Given the description of an element on the screen output the (x, y) to click on. 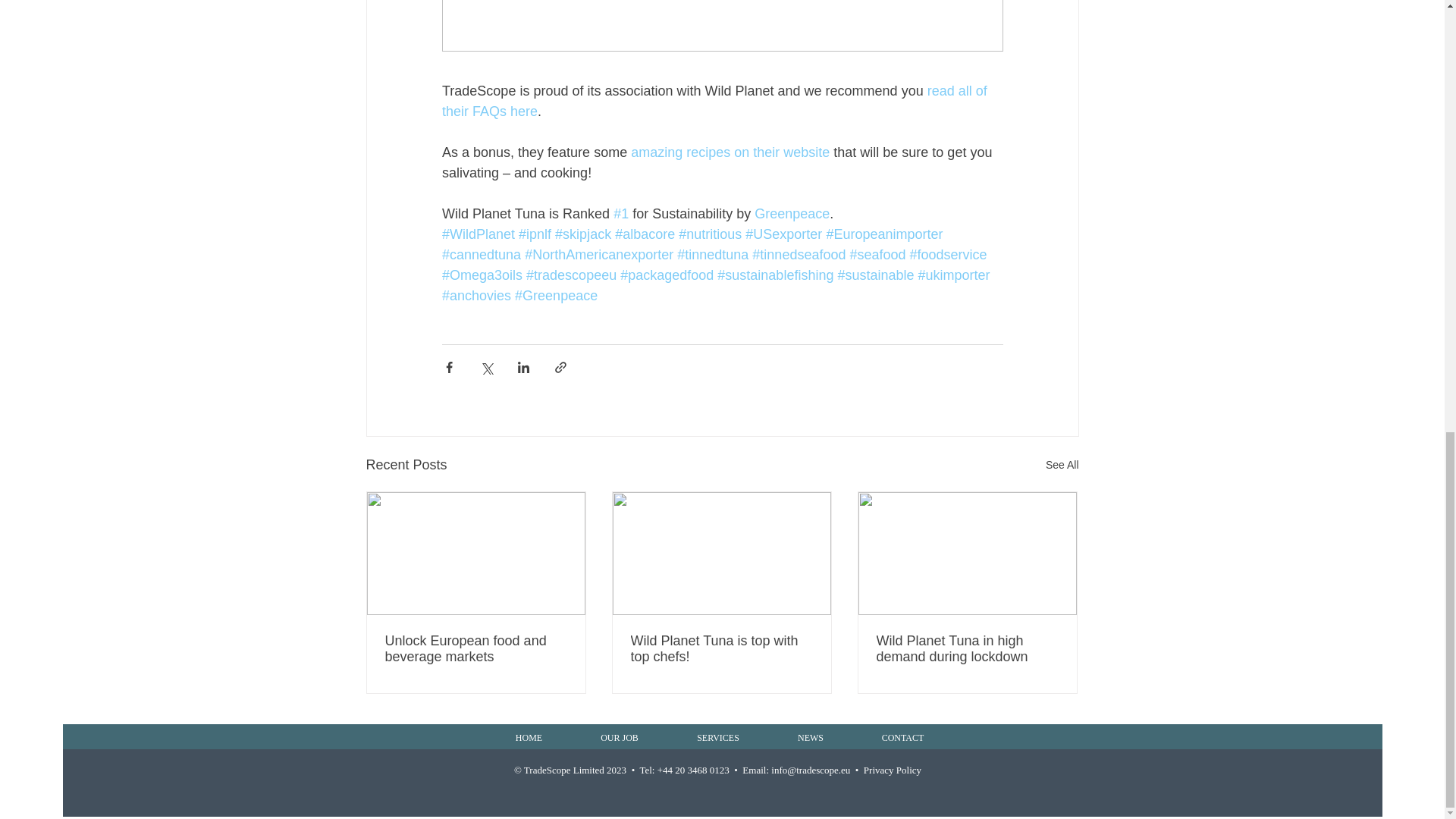
Greenpeace (791, 213)
amazing recipes on their website (729, 151)
read all of their FAQs here (715, 100)
